Given the description of an element on the screen output the (x, y) to click on. 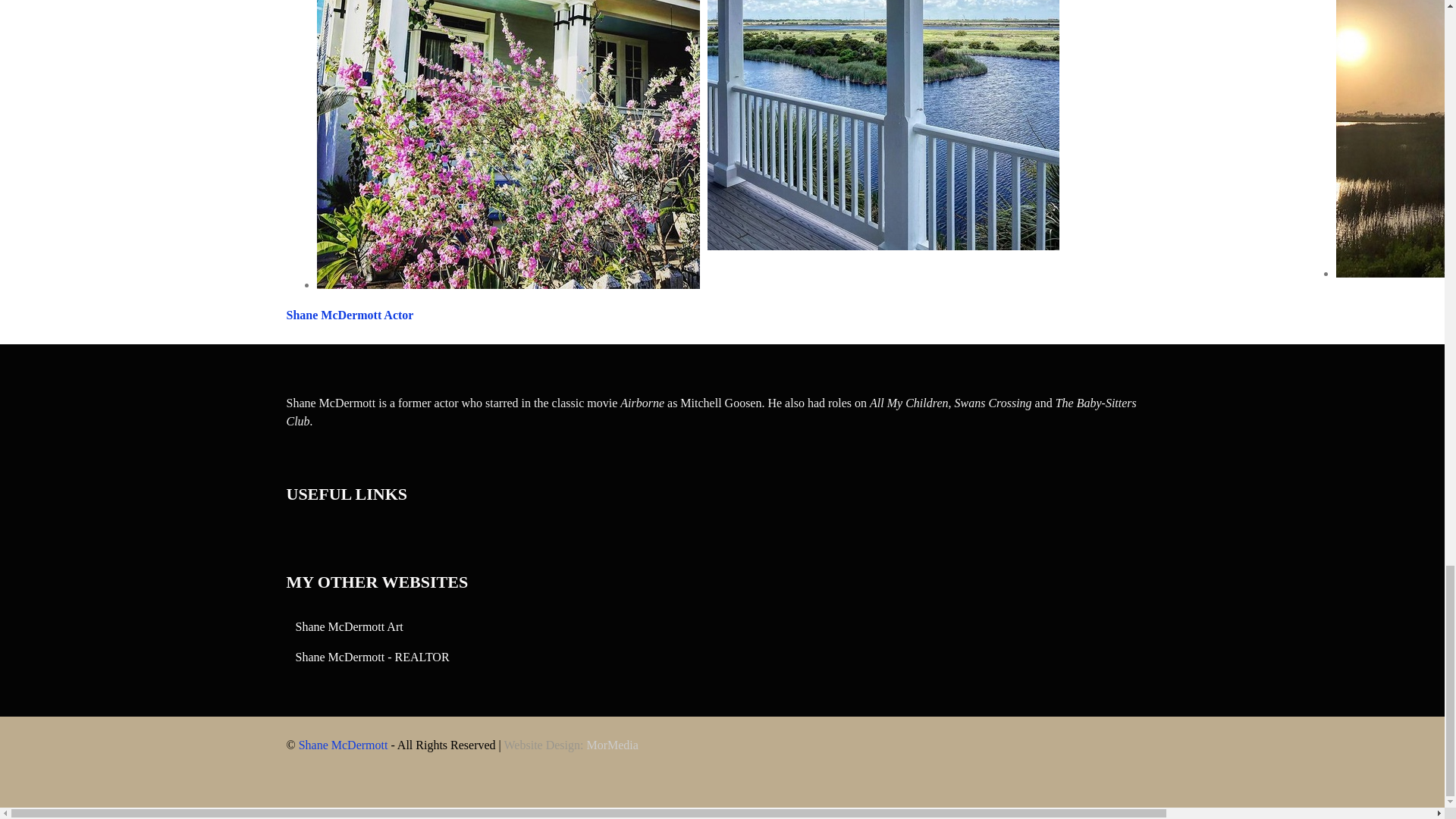
Shane McDermott (343, 744)
MorMedia (611, 744)
Shane McDermott Art (349, 626)
galveston porch scene (882, 125)
Shane McDermott Actor (349, 314)
Shane McDermott - REALTOR (372, 656)
galveston real estate (508, 144)
